Given the description of an element on the screen output the (x, y) to click on. 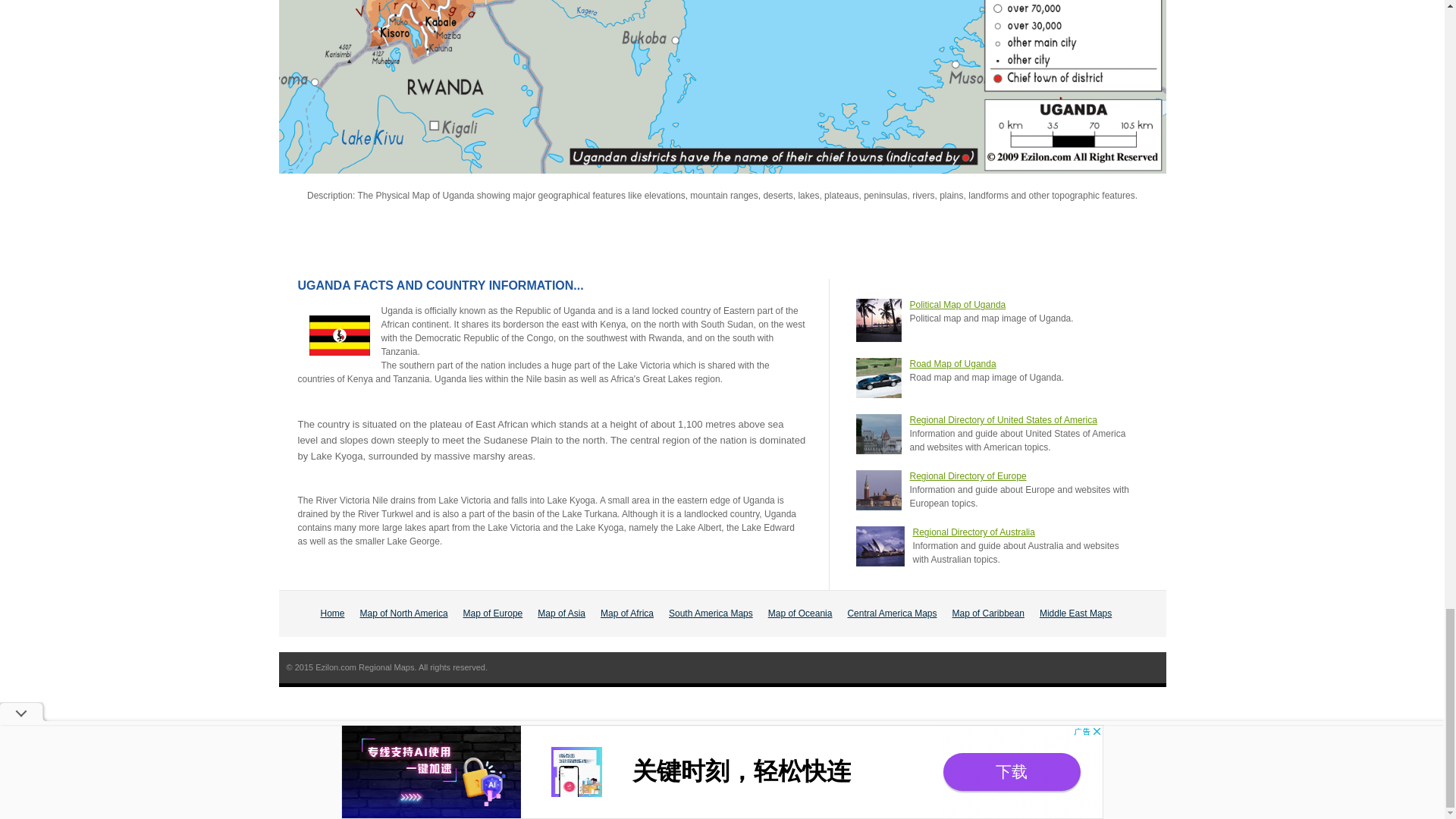
Map of Caribbean (988, 613)
Regional Directory of Europe (968, 475)
Map of Africa (626, 613)
Map of North America (403, 613)
Map of South America (710, 613)
Central America Maps (891, 613)
South America Maps (710, 613)
Map of Europe (492, 613)
Map Home Page (331, 613)
Map of Oceania (800, 613)
Map of Asia (561, 613)
Middle East Maps (1075, 613)
Map of Europe (492, 613)
Map of Africa (626, 613)
Regional Directory of Australia (973, 532)
